Given the description of an element on the screen output the (x, y) to click on. 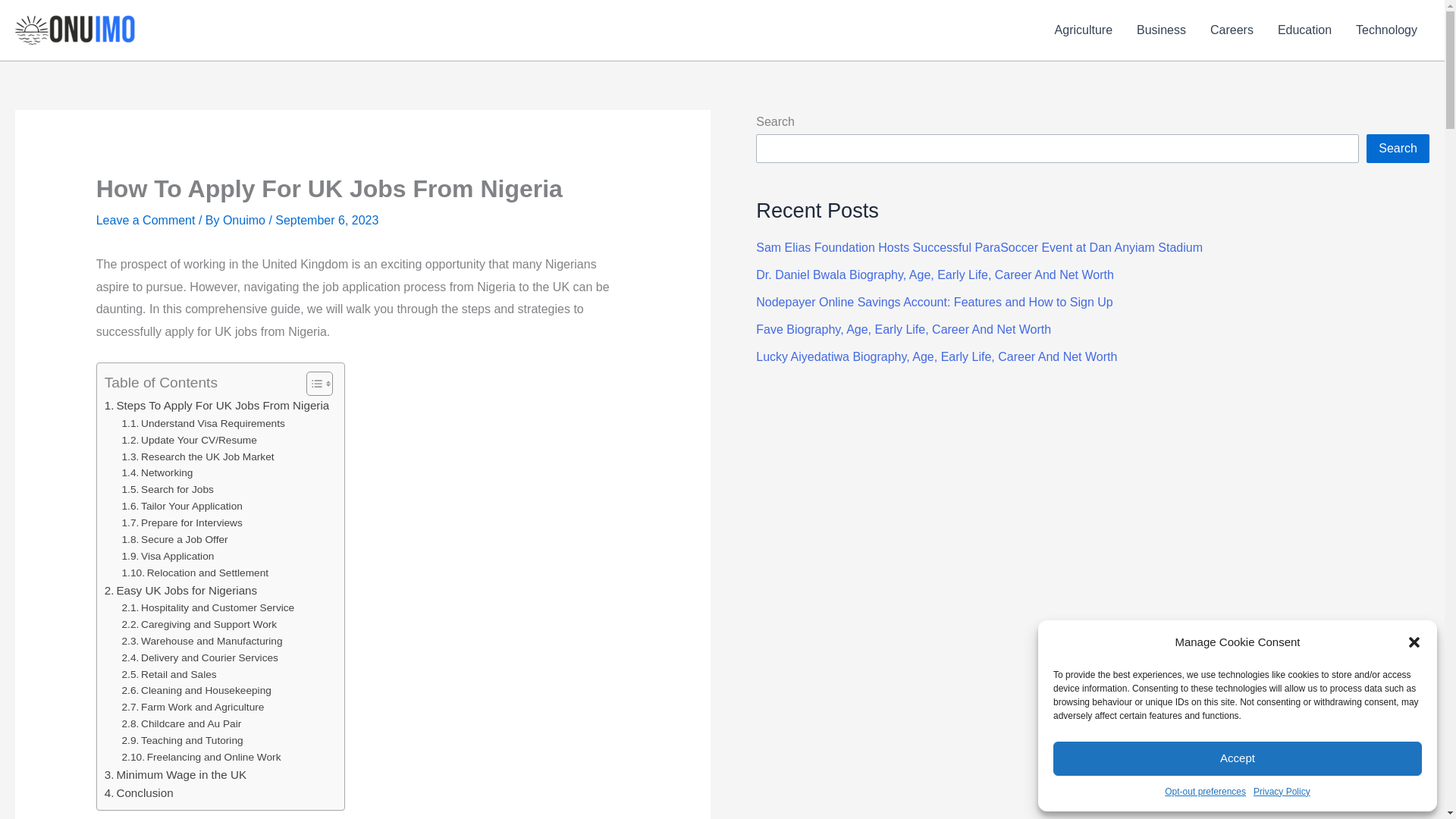
Networking (157, 473)
Understand Visa Requirements (203, 423)
Privacy Policy (1281, 791)
View all posts by Onuimo (244, 219)
Careers (1231, 30)
Search for Jobs (168, 489)
Networking (157, 473)
Secure a Job Offer (175, 539)
Onuimo (244, 219)
Business (1161, 30)
Education (1304, 30)
Steps To Apply For UK Jobs From Nigeria (217, 405)
Relocation and Settlement (195, 573)
Search for Jobs (168, 489)
Visa Application (168, 556)
